Given the description of an element on the screen output the (x, y) to click on. 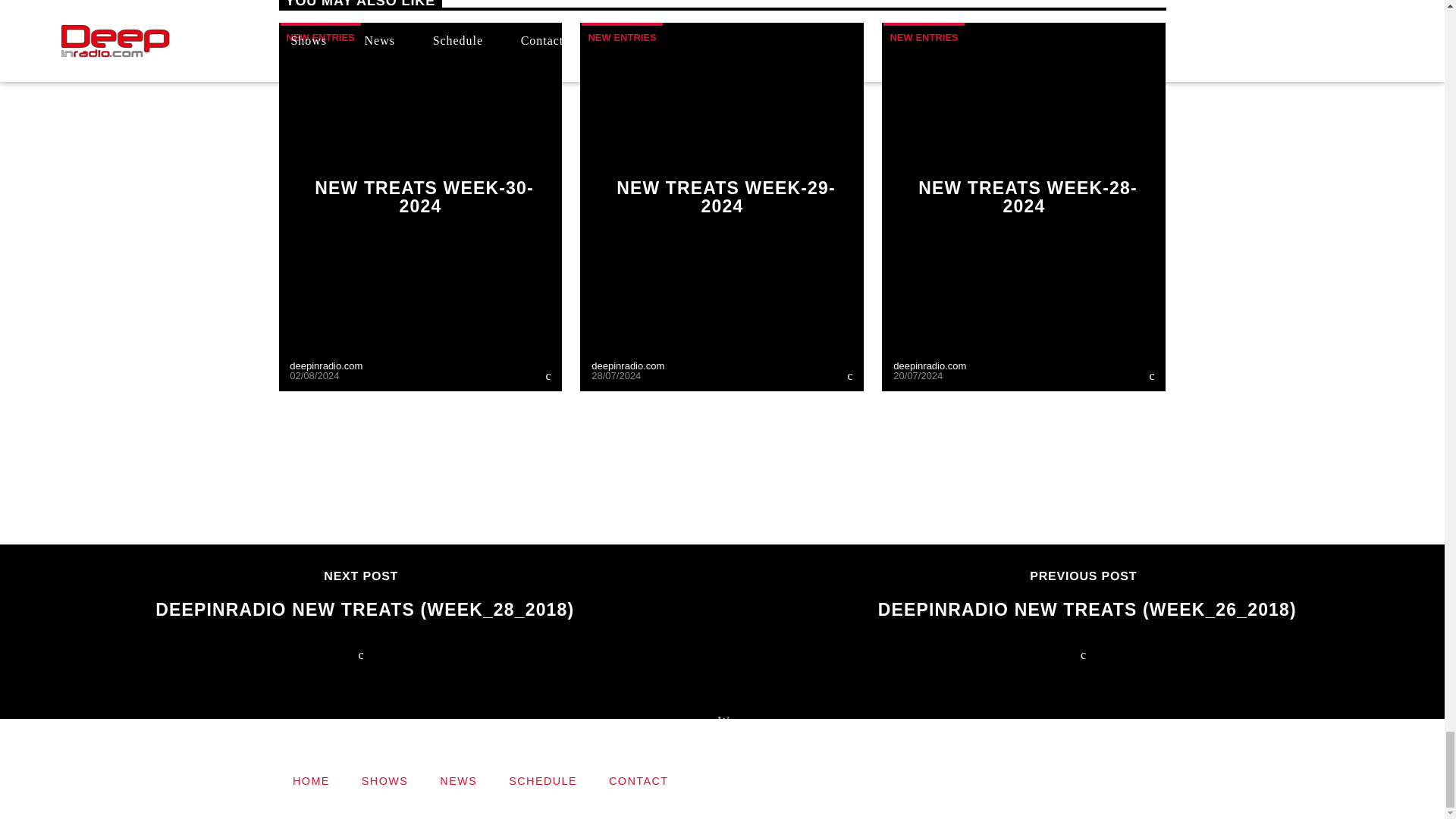
Posts by deepinradio.com (325, 365)
NEW ENTRIES (321, 35)
Posts by deepinradio.com (929, 365)
NEW TREATS WEEK-30-2024 (423, 197)
Posts by deepinradio.com (627, 365)
